Given the description of an element on the screen output the (x, y) to click on. 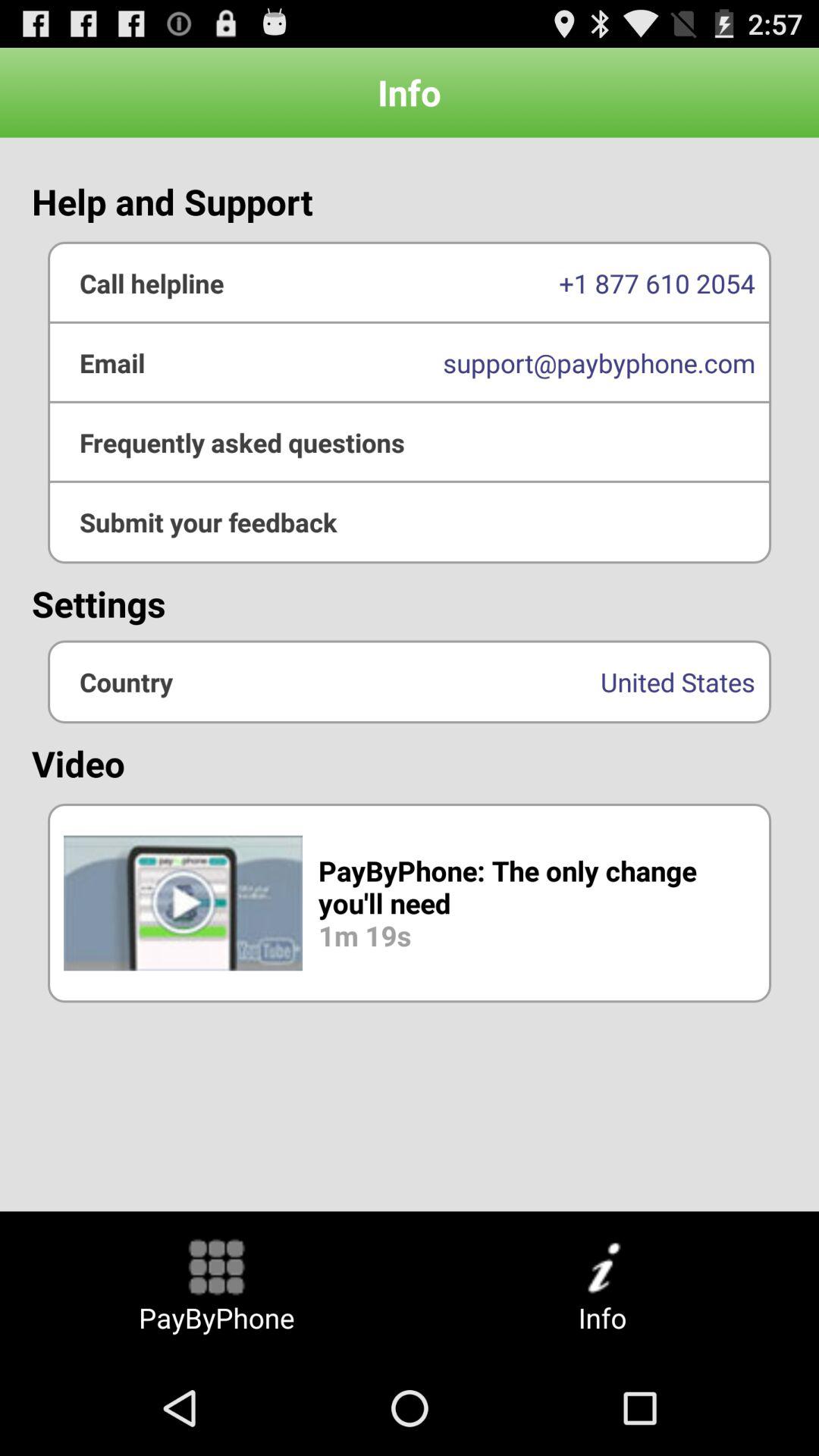
jump until the paybyphone the only icon (409, 902)
